Given the description of an element on the screen output the (x, y) to click on. 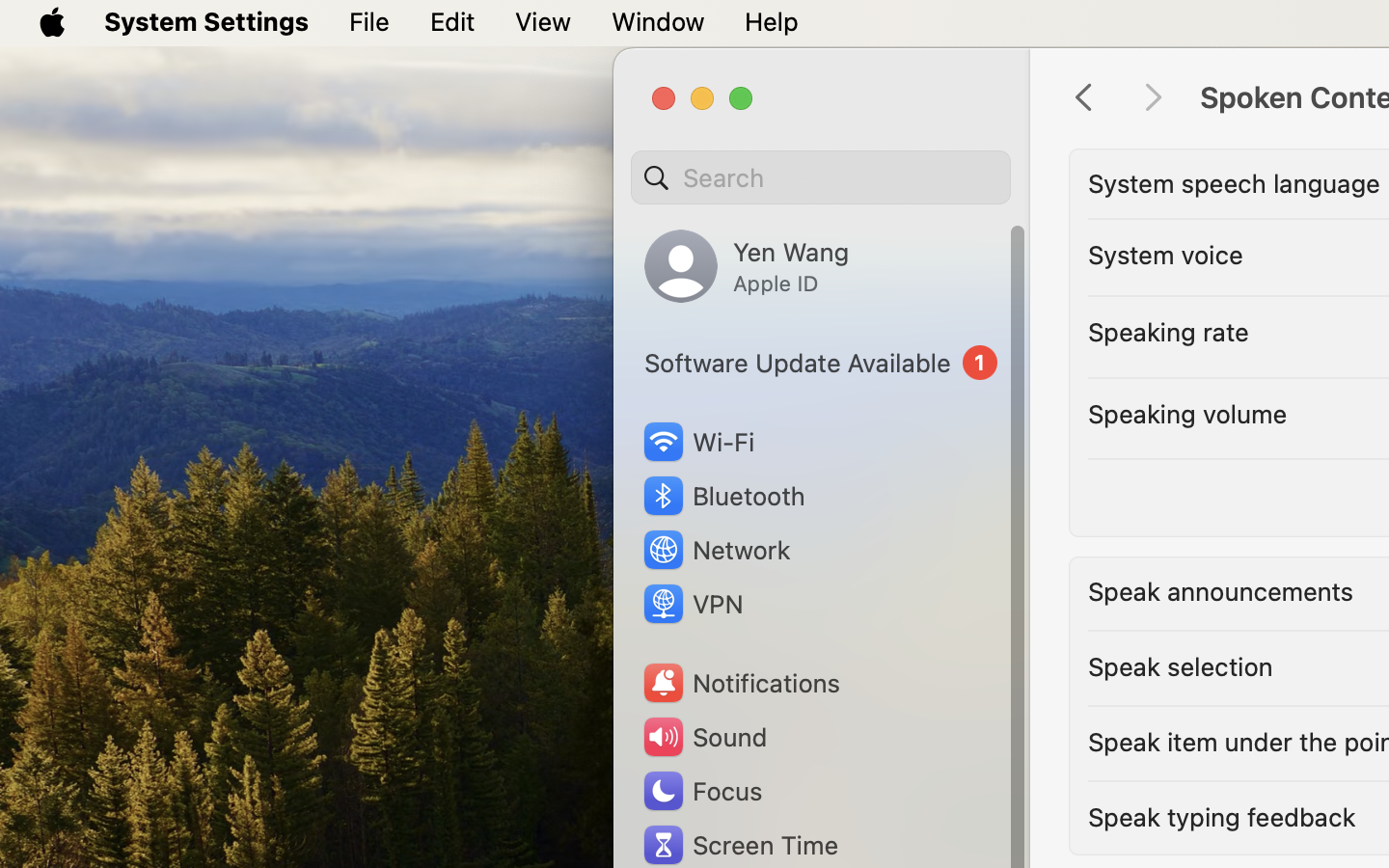
VPN Element type: AXStaticText (691, 603)
Speak selection Element type: AXStaticText (1180, 665)
Bluetooth Element type: AXStaticText (723, 495)
Speaking rate Element type: AXStaticText (1168, 331)
1 Element type: AXStaticText (820, 362)
